Given the description of an element on the screen output the (x, y) to click on. 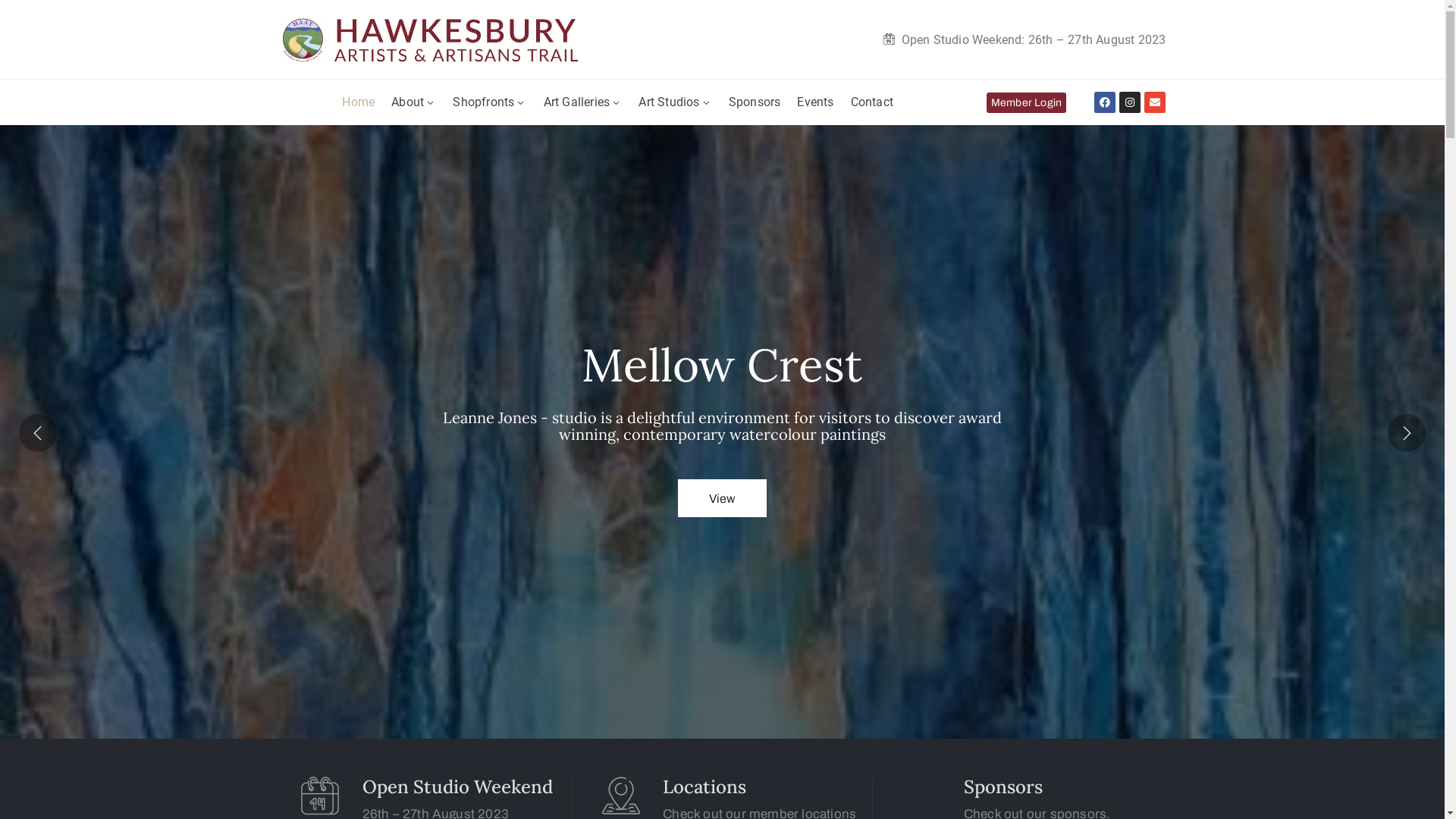
Shopfronts Element type: text (489, 102)
Sponsors Element type: text (754, 101)
View Element type: text (722, 498)
Contact Element type: text (871, 101)
Art Studios Element type: text (674, 102)
Art Galleries Element type: text (582, 102)
Member Login Element type: text (1026, 102)
Home Element type: text (358, 101)
About Element type: text (413, 102)
Events Element type: text (815, 101)
